Given the description of an element on the screen output the (x, y) to click on. 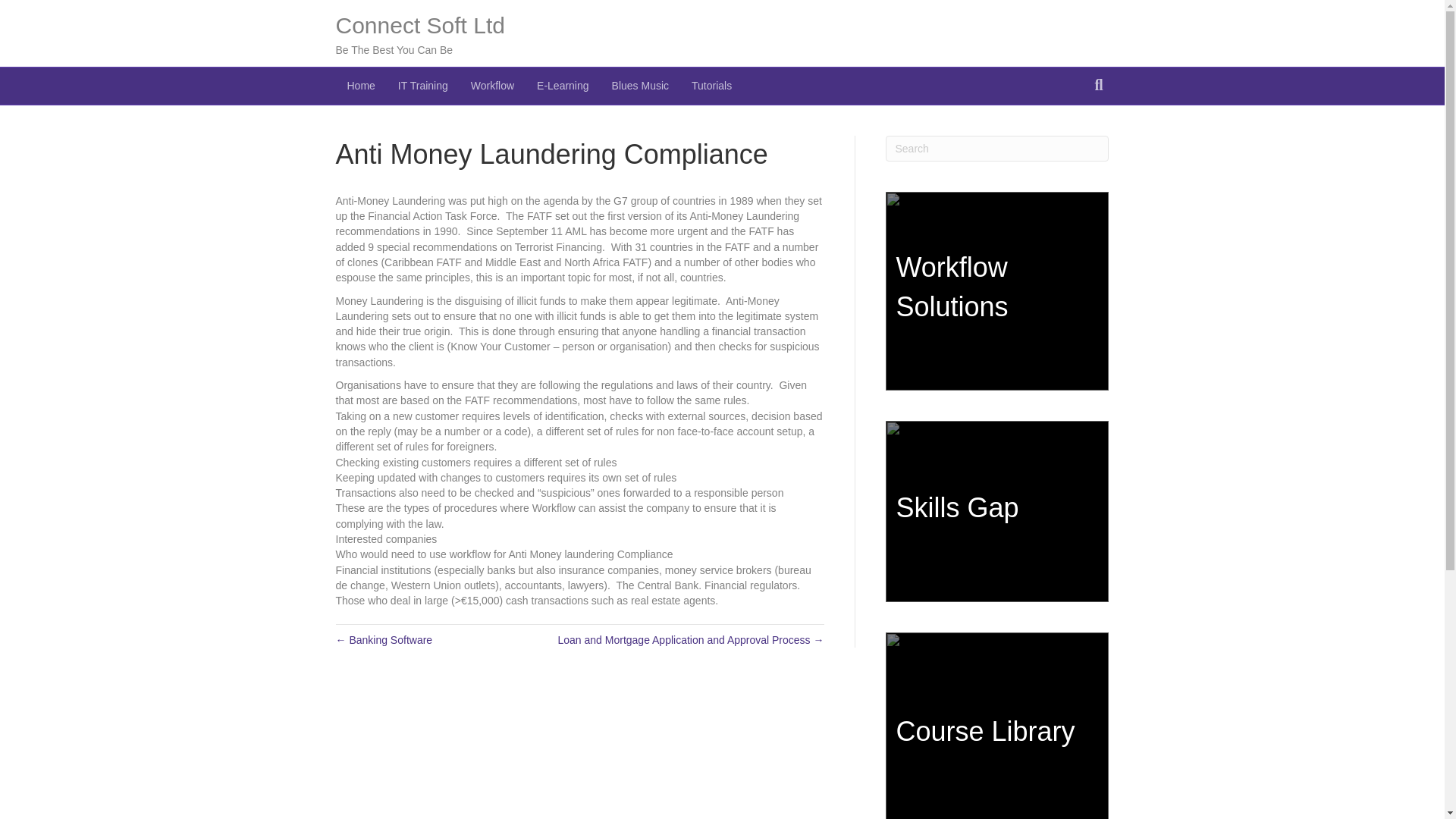
E-Learning (562, 86)
Home (359, 86)
Connect Soft Ltd (516, 25)
Type and press Enter to search. (997, 148)
Tutorials (710, 86)
Workflow (492, 86)
Blues Music (639, 86)
IT Training (423, 86)
